Given the description of an element on the screen output the (x, y) to click on. 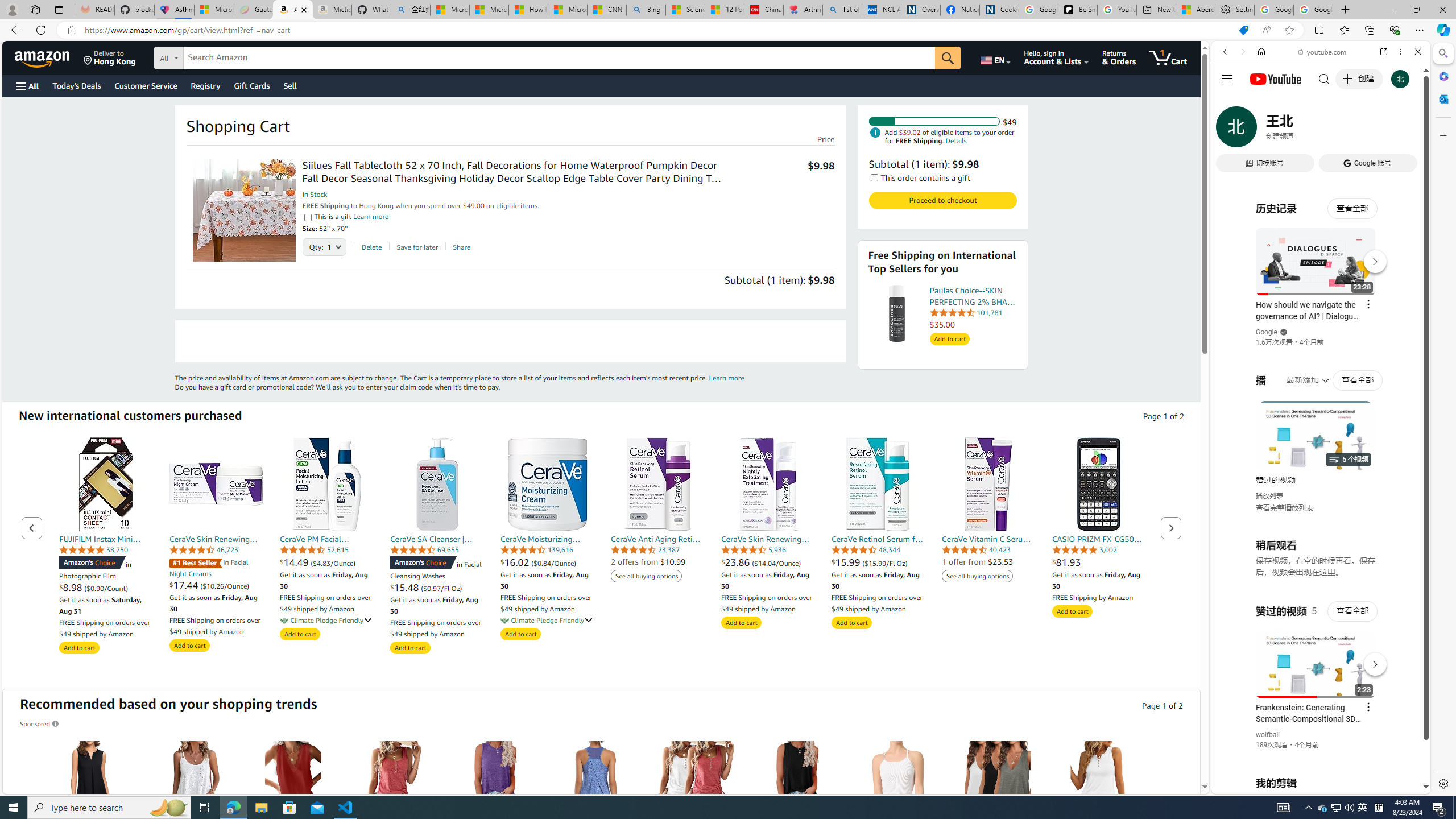
Show More Music (1390, 310)
See all buying options (977, 576)
wolfball (1268, 734)
Proceed to checkout Check out Amazon Cart  (942, 200)
